Given the description of an element on the screen output the (x, y) to click on. 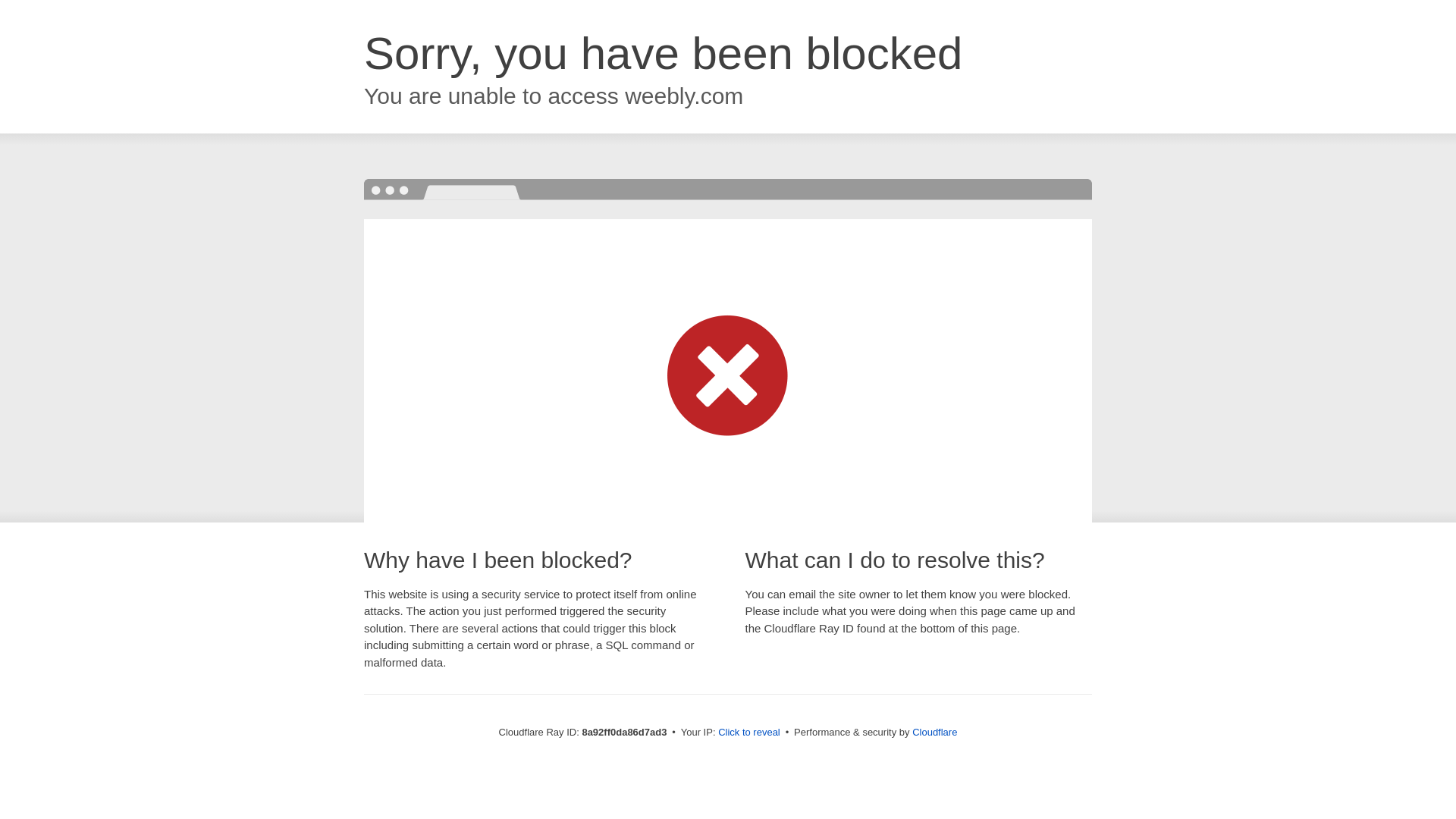
Cloudflare (934, 731)
Click to reveal (748, 732)
